Given the description of an element on the screen output the (x, y) to click on. 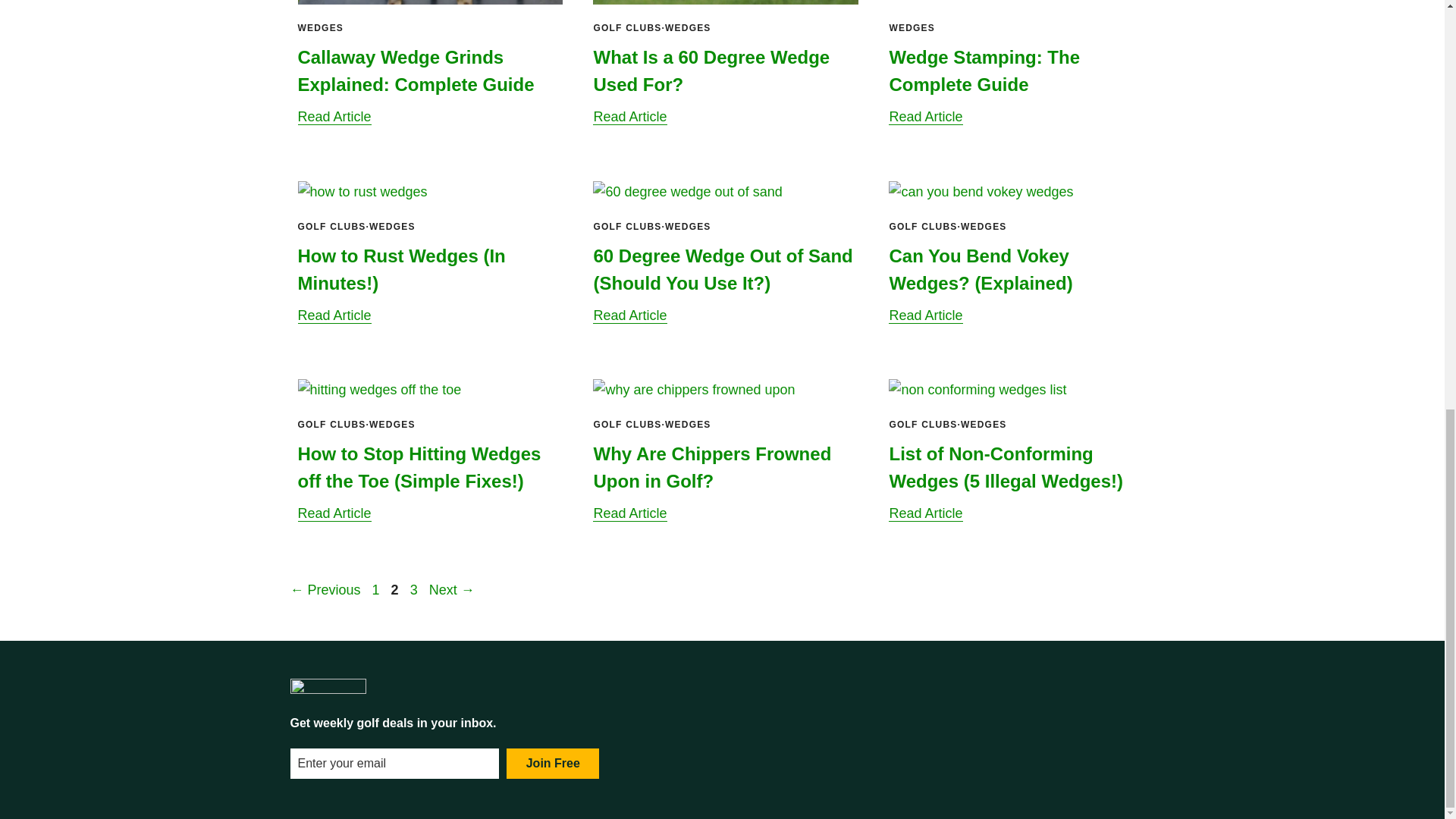
Callaway Wedge Grinds Explained: Complete Guide (415, 70)
WEDGES (320, 27)
Pitchmarks-HHQ-White (327, 686)
